Given the description of an element on the screen output the (x, y) to click on. 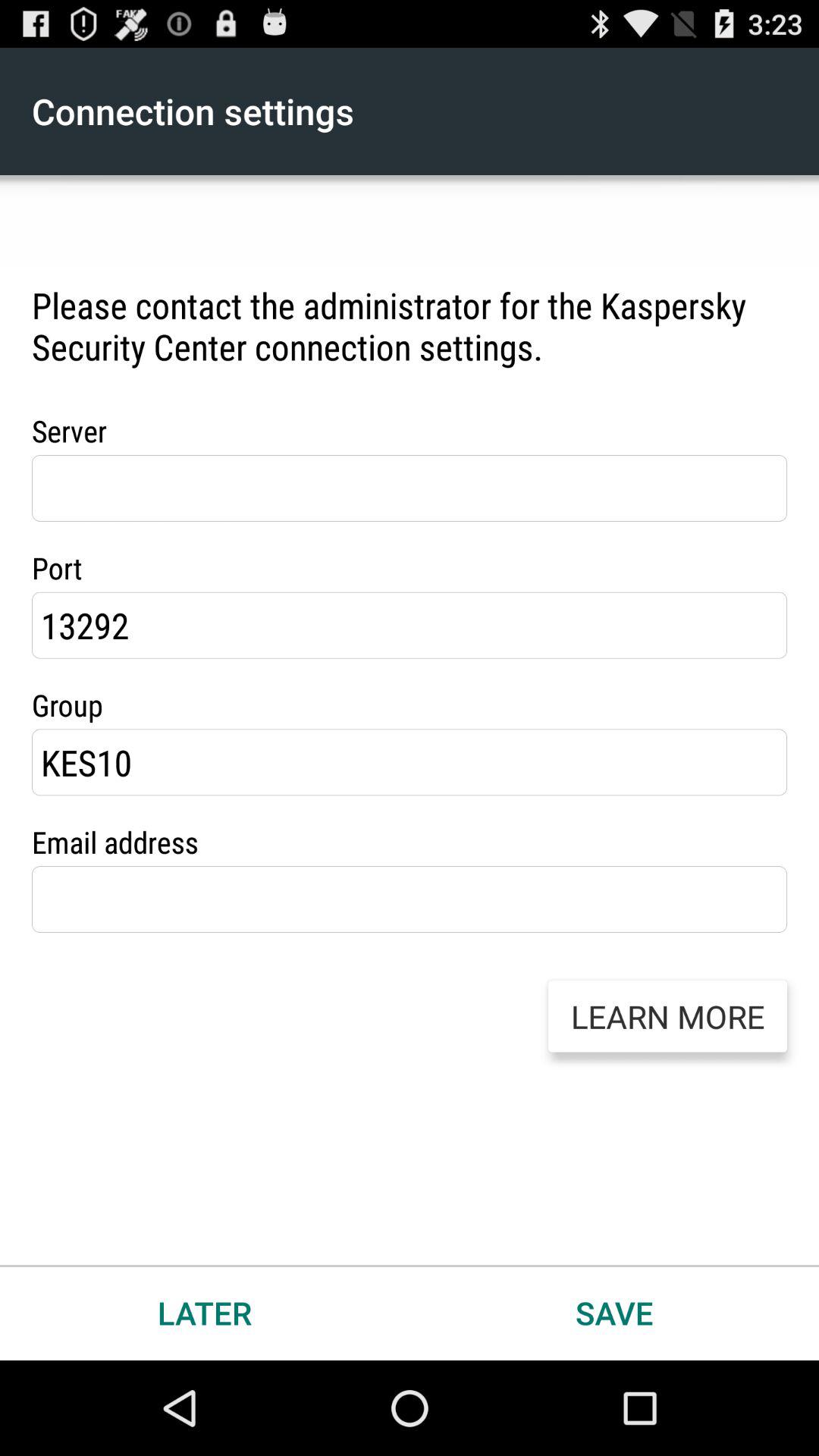
enter email address (409, 899)
